Given the description of an element on the screen output the (x, y) to click on. 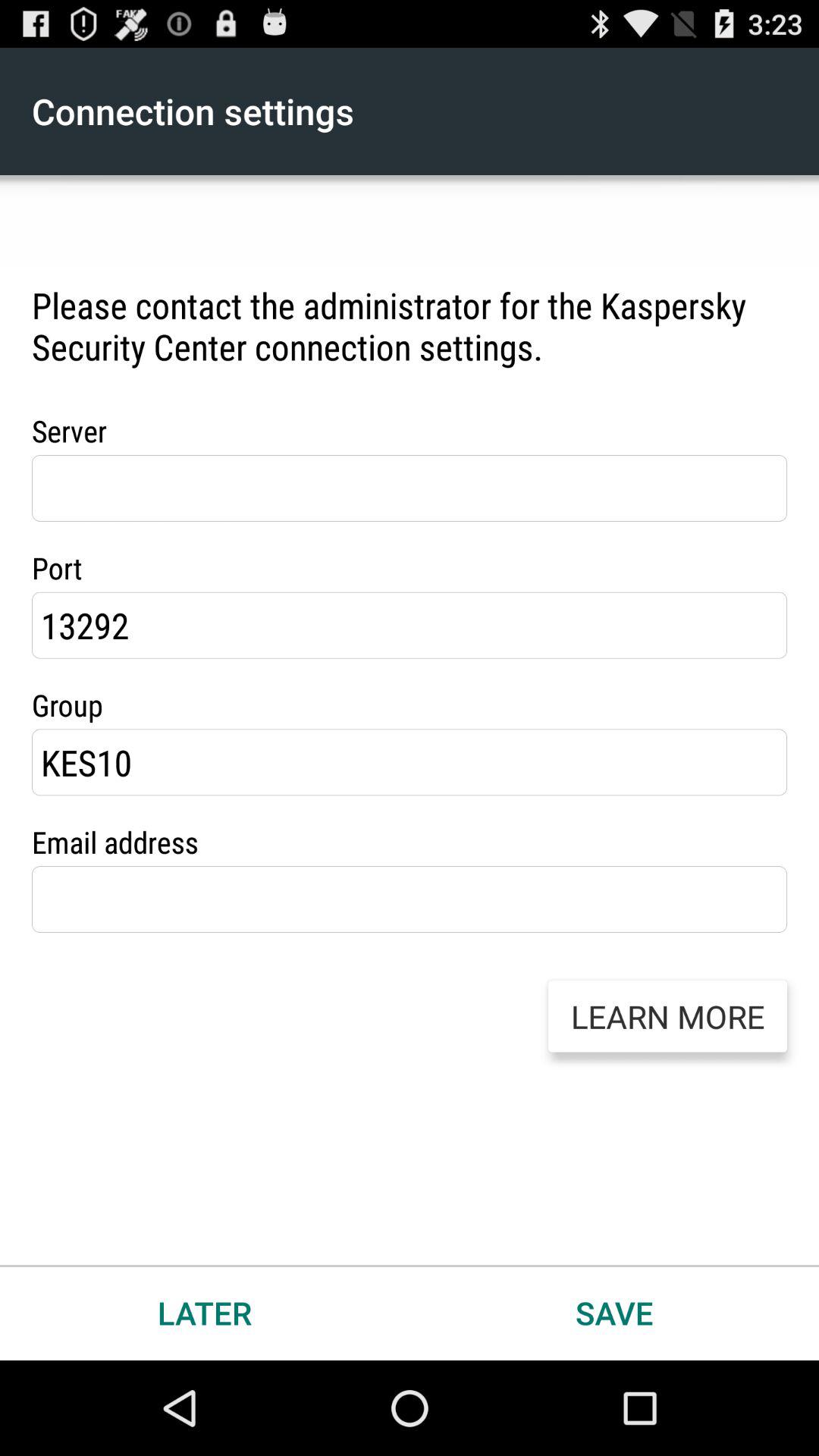
enter email address (409, 899)
